Given the description of an element on the screen output the (x, y) to click on. 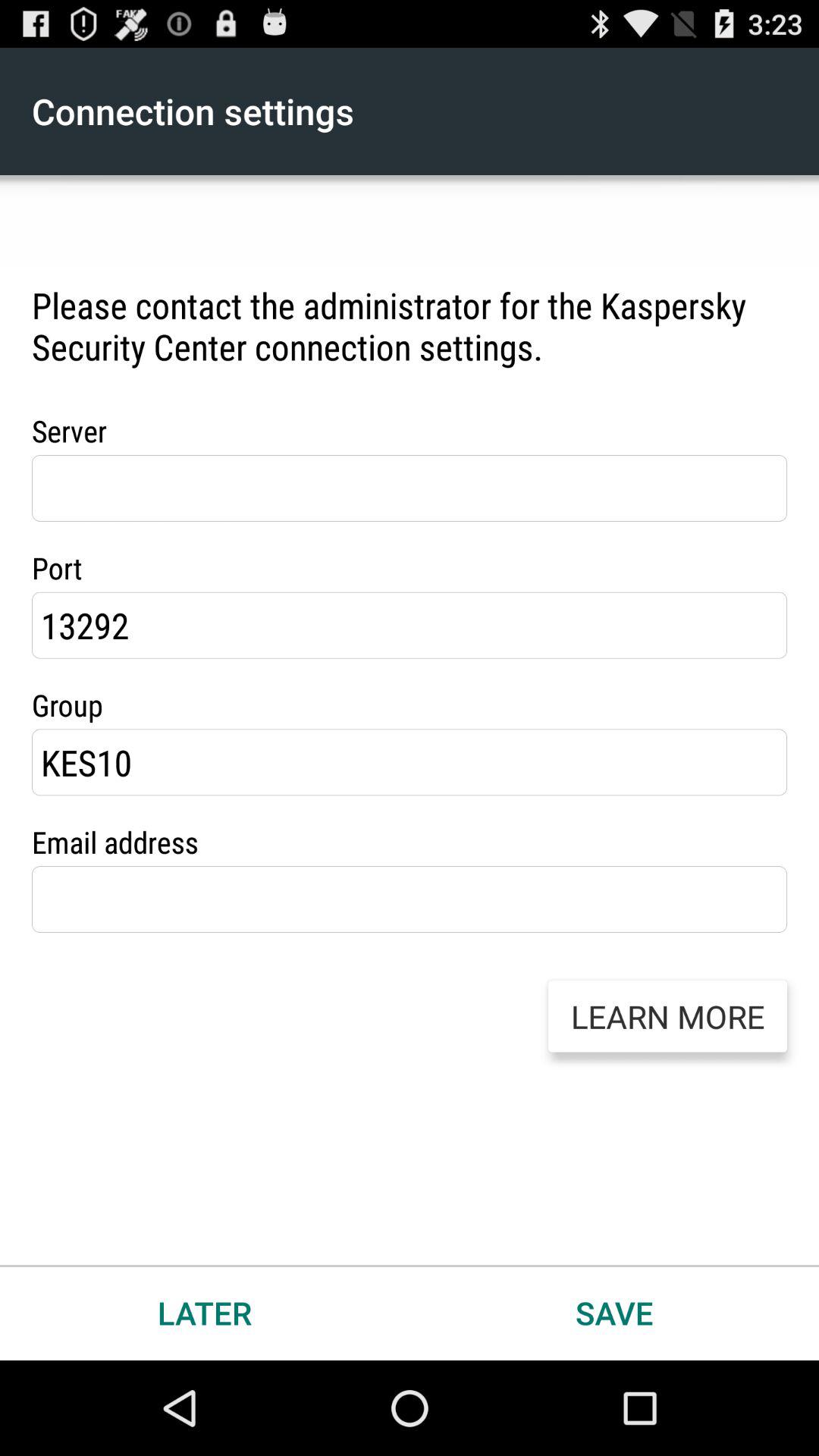
enter email address (409, 899)
